Given the description of an element on the screen output the (x, y) to click on. 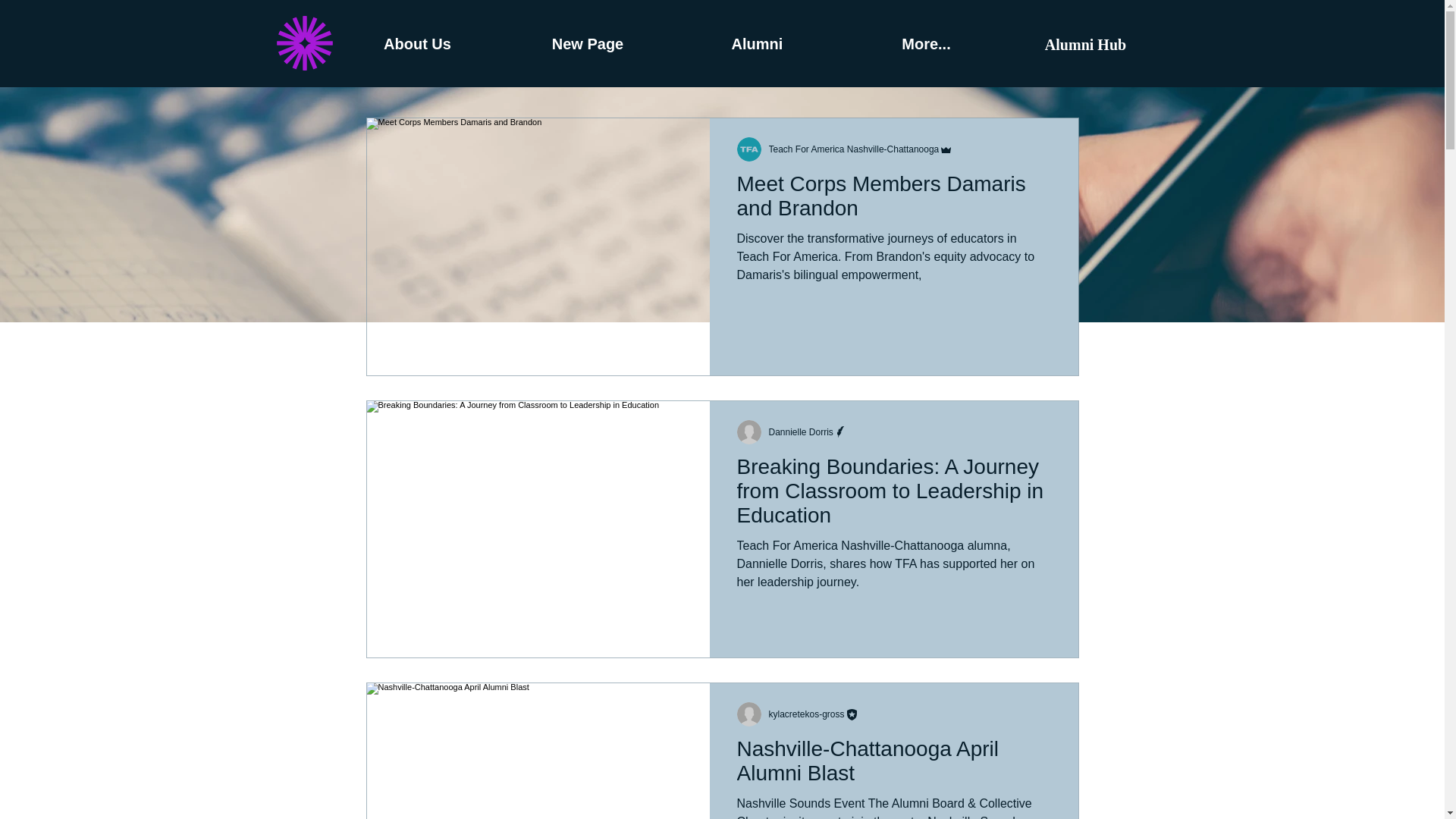
Dannielle Dorris (800, 430)
New Page (587, 43)
Teach For America Nashville-Chattanooga (853, 149)
About Us (416, 43)
Alumni (756, 43)
Alumni Hub (1085, 44)
kylacretekos-gross (806, 714)
